Given the description of an element on the screen output the (x, y) to click on. 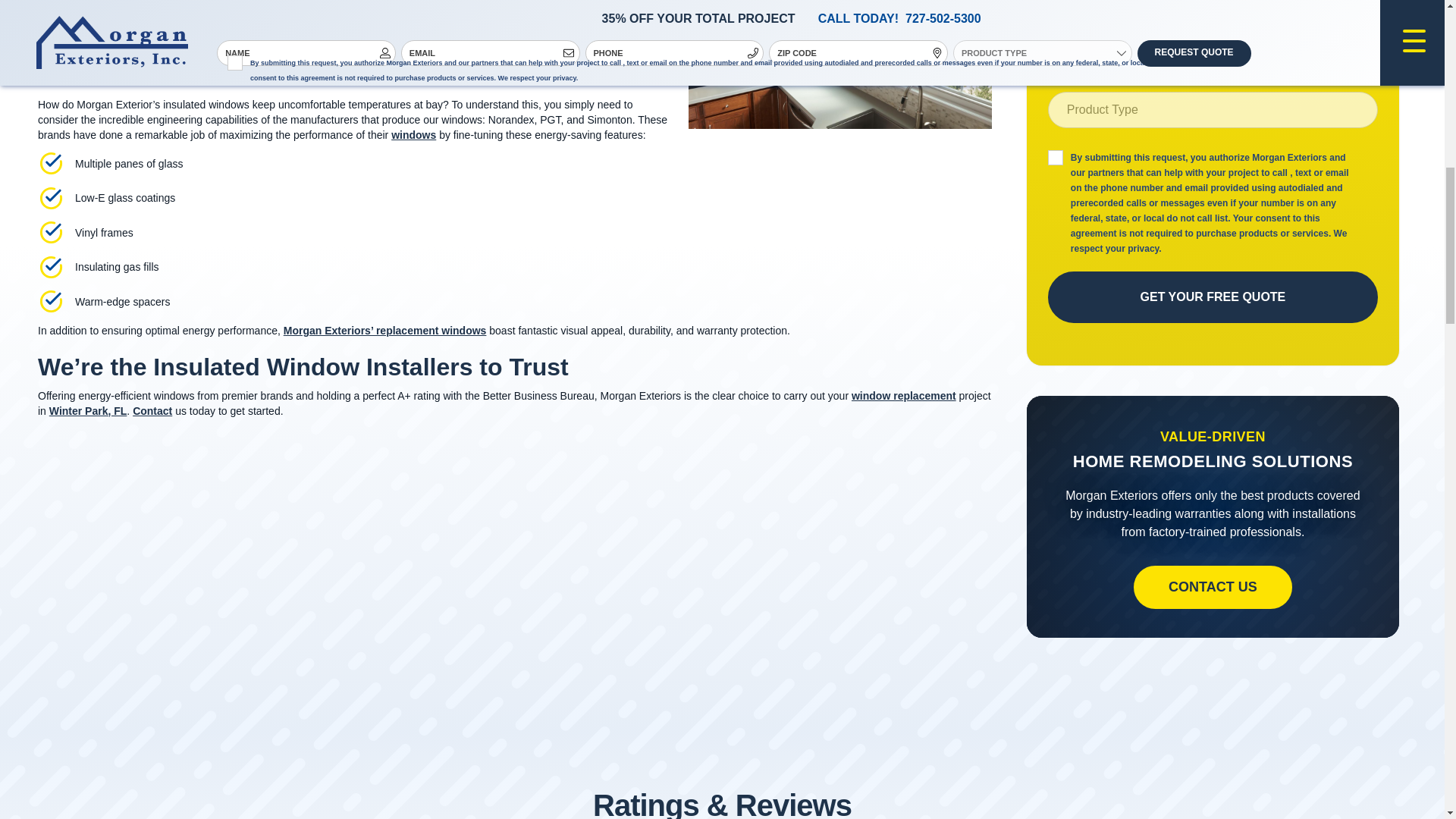
Yes, I agree. (1055, 157)
Energy-Efficient Windows Winter Park FL (839, 64)
Get Your Free Quote (1212, 296)
